Given the description of an element on the screen output the (x, y) to click on. 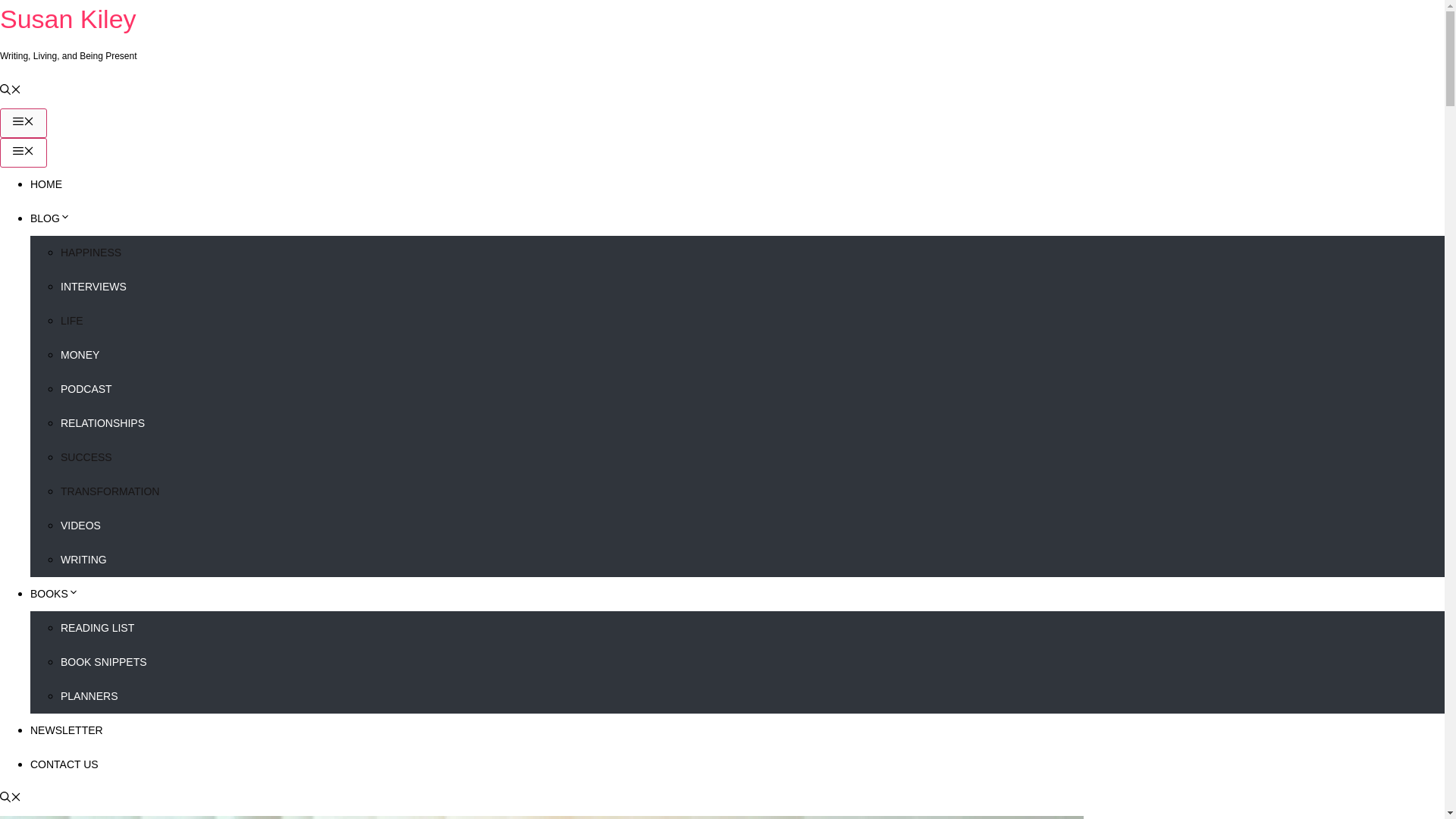
CONTACT US (64, 764)
BLOG (49, 218)
MENU (23, 123)
PODCAST (86, 388)
MENU (23, 152)
VIDEOS (80, 525)
BOOKS (54, 593)
PLANNERS (89, 695)
RELATIONSHIPS (102, 422)
INTERVIEWS (93, 286)
MONEY (80, 354)
READING LIST (97, 627)
NEWSLETTER (66, 729)
HAPPINESS (90, 252)
LIFE (71, 320)
